Given the description of an element on the screen output the (x, y) to click on. 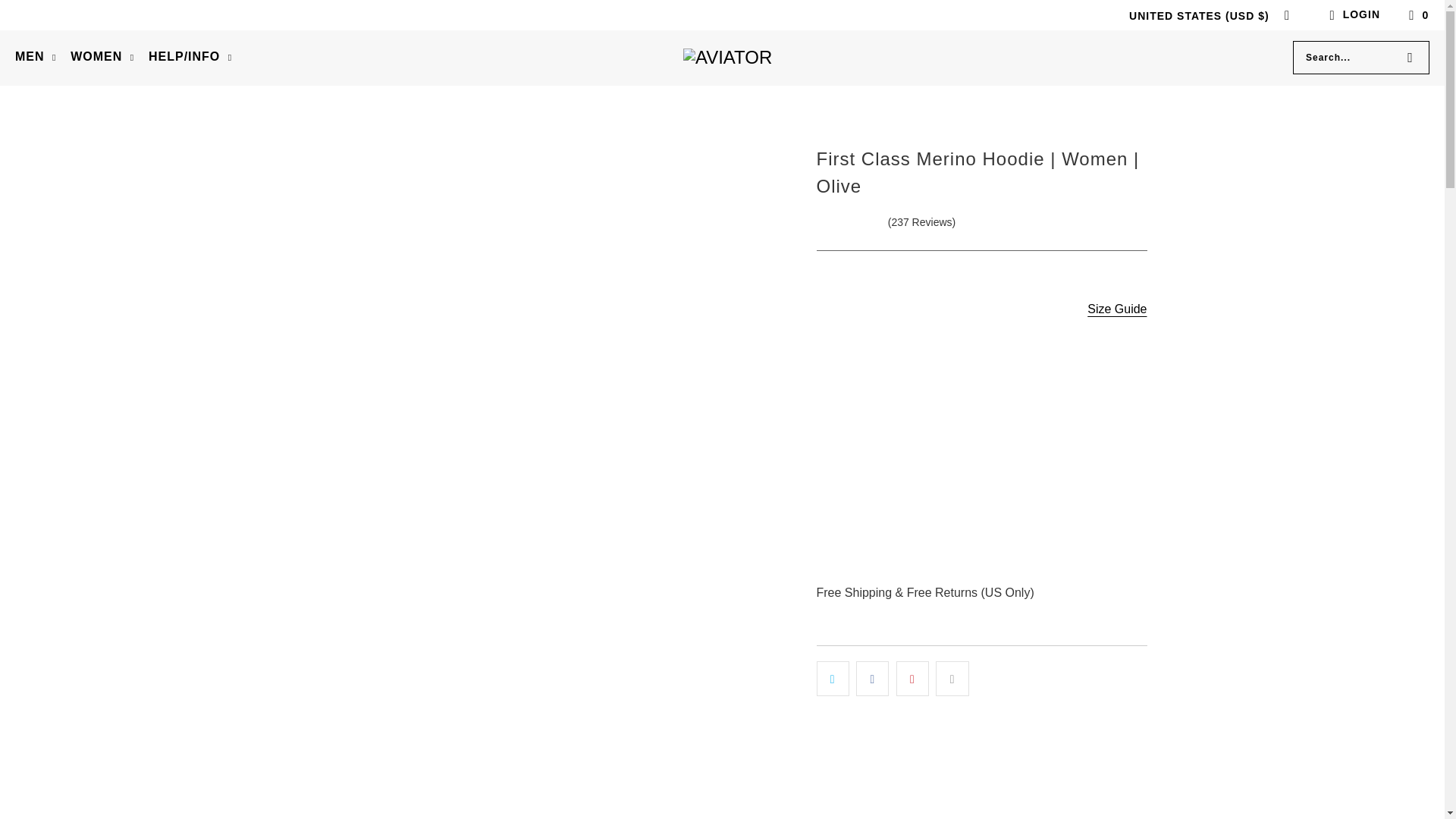
My Account  (1351, 14)
Share this on Twitter (831, 678)
Share this on Pinterest (912, 678)
Aviator (726, 57)
Email this to a friend (952, 678)
Share this on Facebook (872, 678)
